Given the description of an element on the screen output the (x, y) to click on. 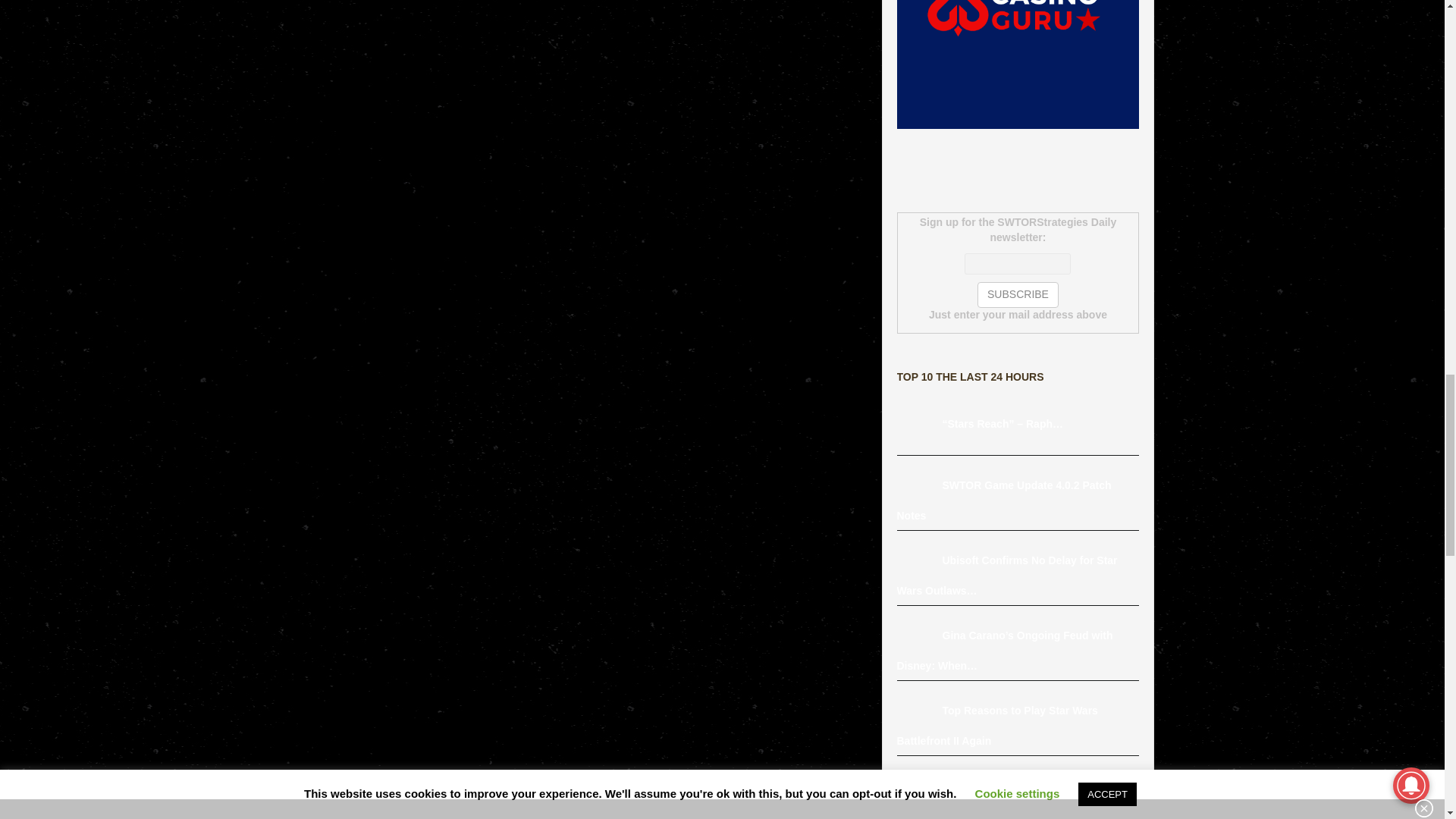
Subscribe (1017, 294)
SWTOR Game Update 4.0.2 Patch Notes (919, 485)
